Given the description of an element on the screen output the (x, y) to click on. 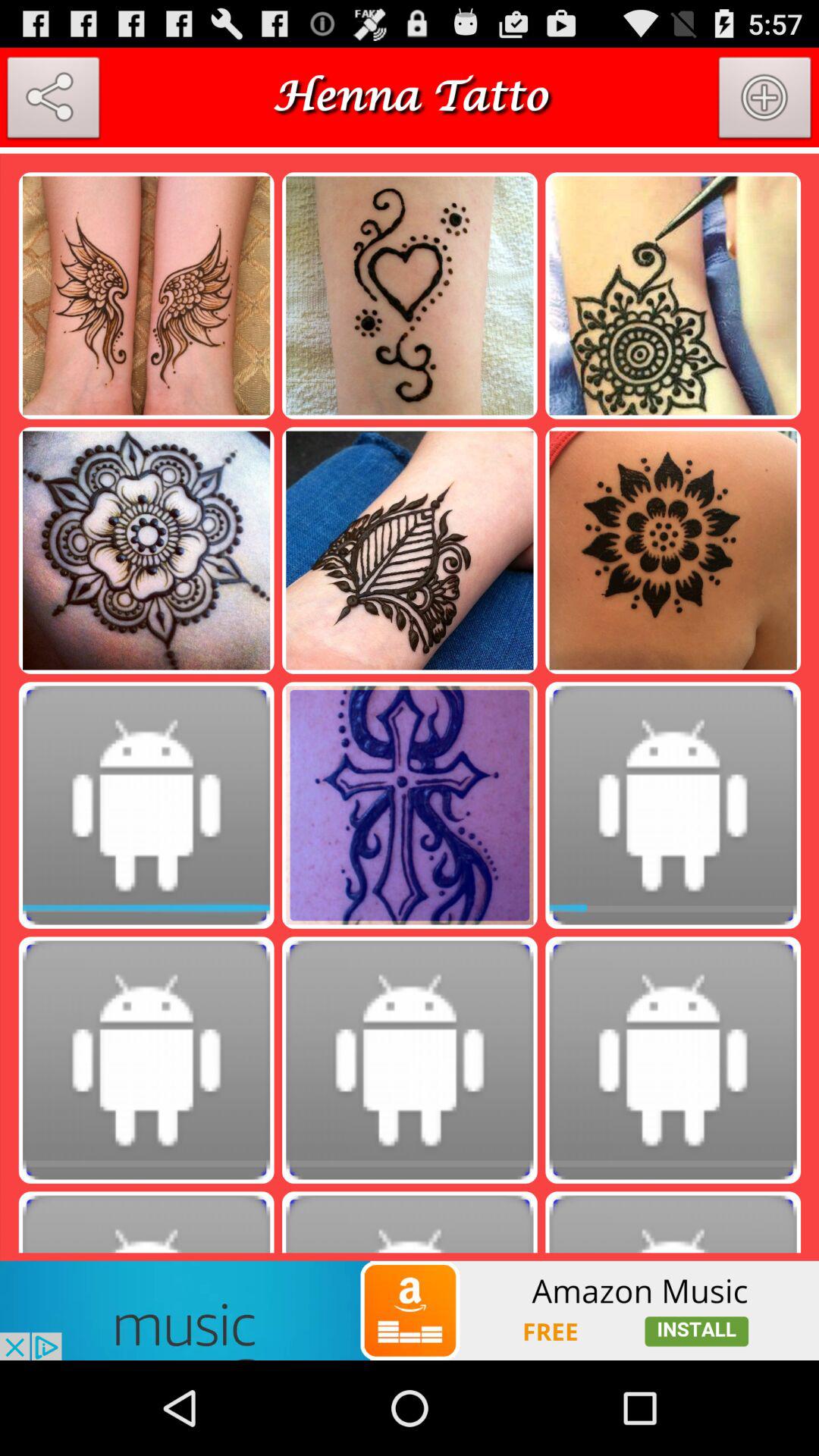
share option (53, 100)
